Given the description of an element on the screen output the (x, y) to click on. 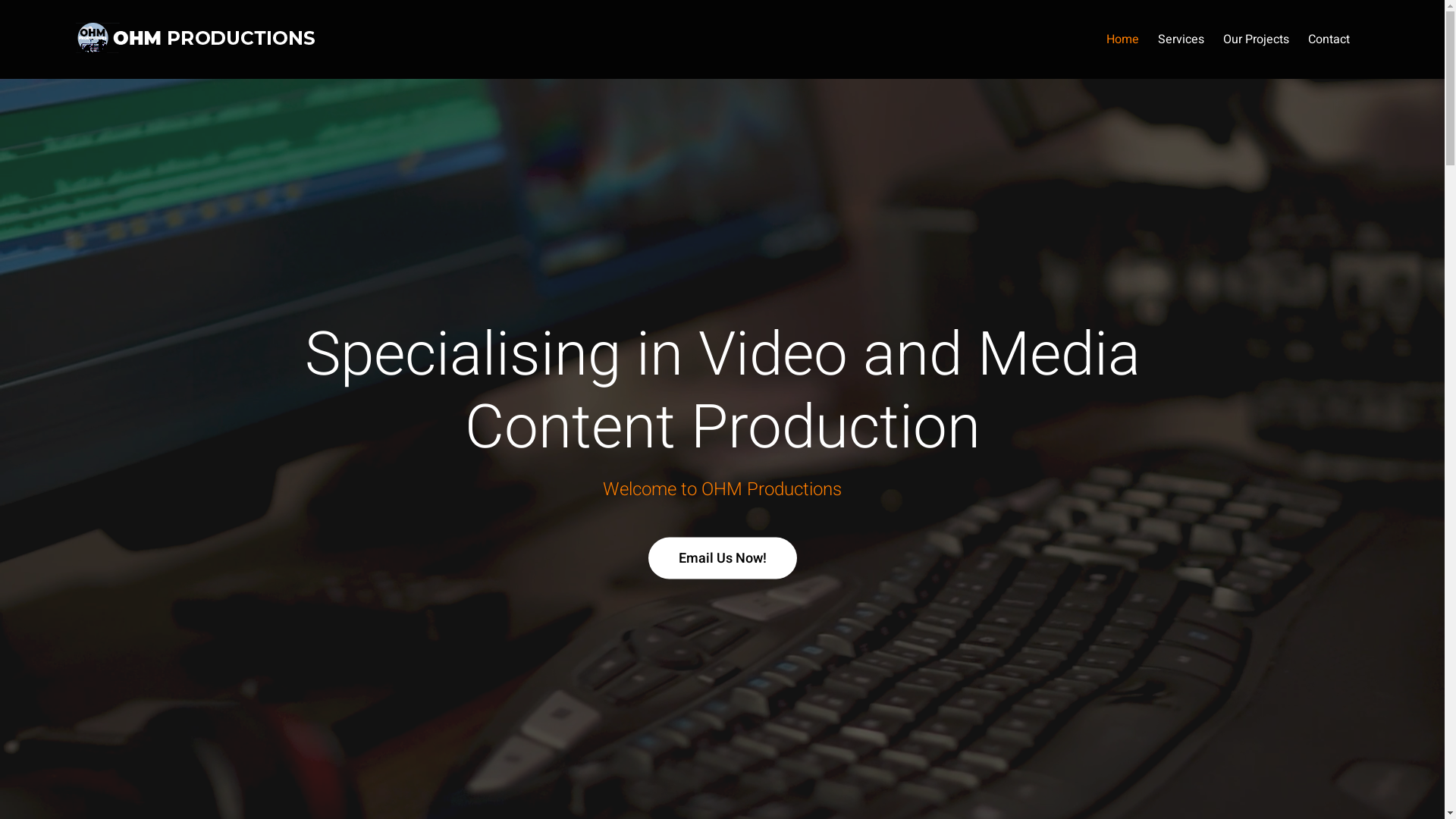
Services Element type: text (1180, 39)
Contact Element type: text (1328, 39)
Email Us Now! Element type: text (721, 557)
Home Element type: text (1122, 39)
Our Projects Element type: text (1256, 39)
